Given the description of an element on the screen output the (x, y) to click on. 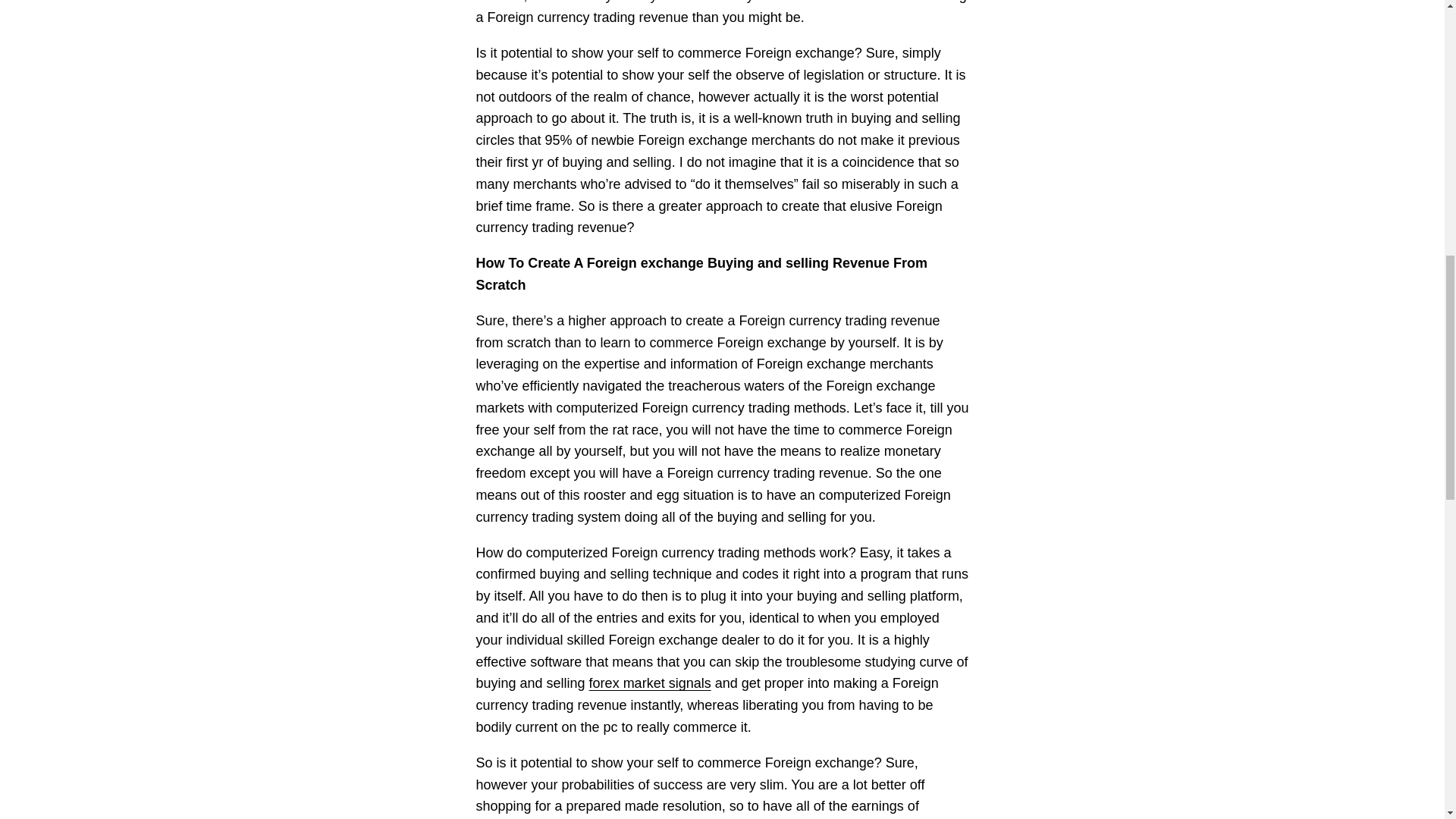
forex market signals (650, 683)
